Given the description of an element on the screen output the (x, y) to click on. 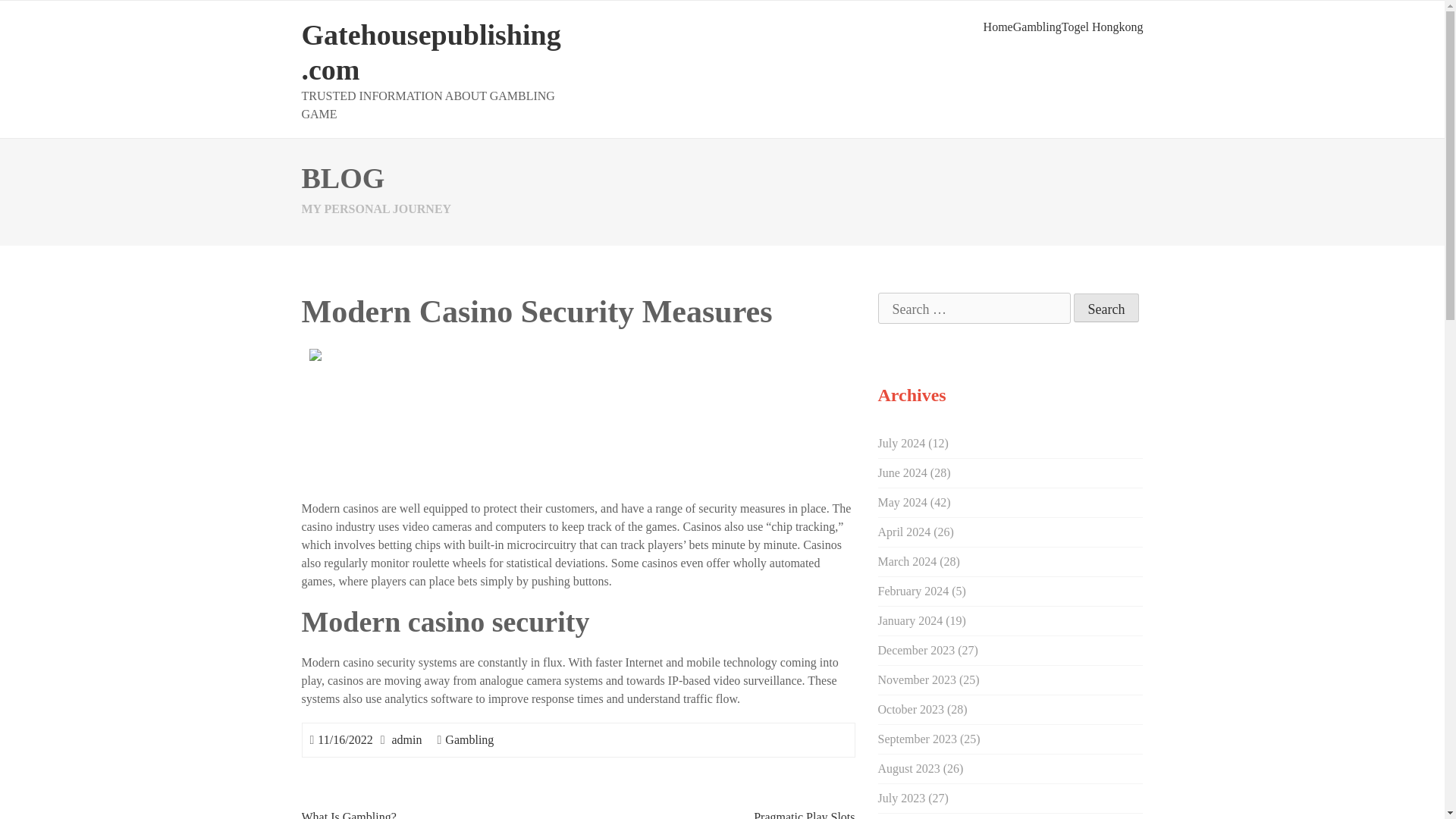
September 2023 (916, 738)
March 2024 (907, 561)
Gambling (469, 739)
Gambling (1037, 27)
admin (406, 739)
November 2023 (916, 679)
Togel Hongkong (1101, 27)
December 2023 (916, 649)
October 2023 (910, 708)
Search (1107, 307)
April 2024 (904, 531)
January 2024 (910, 620)
February 2024 (913, 590)
What Is Gambling? (348, 814)
